Given the description of an element on the screen output the (x, y) to click on. 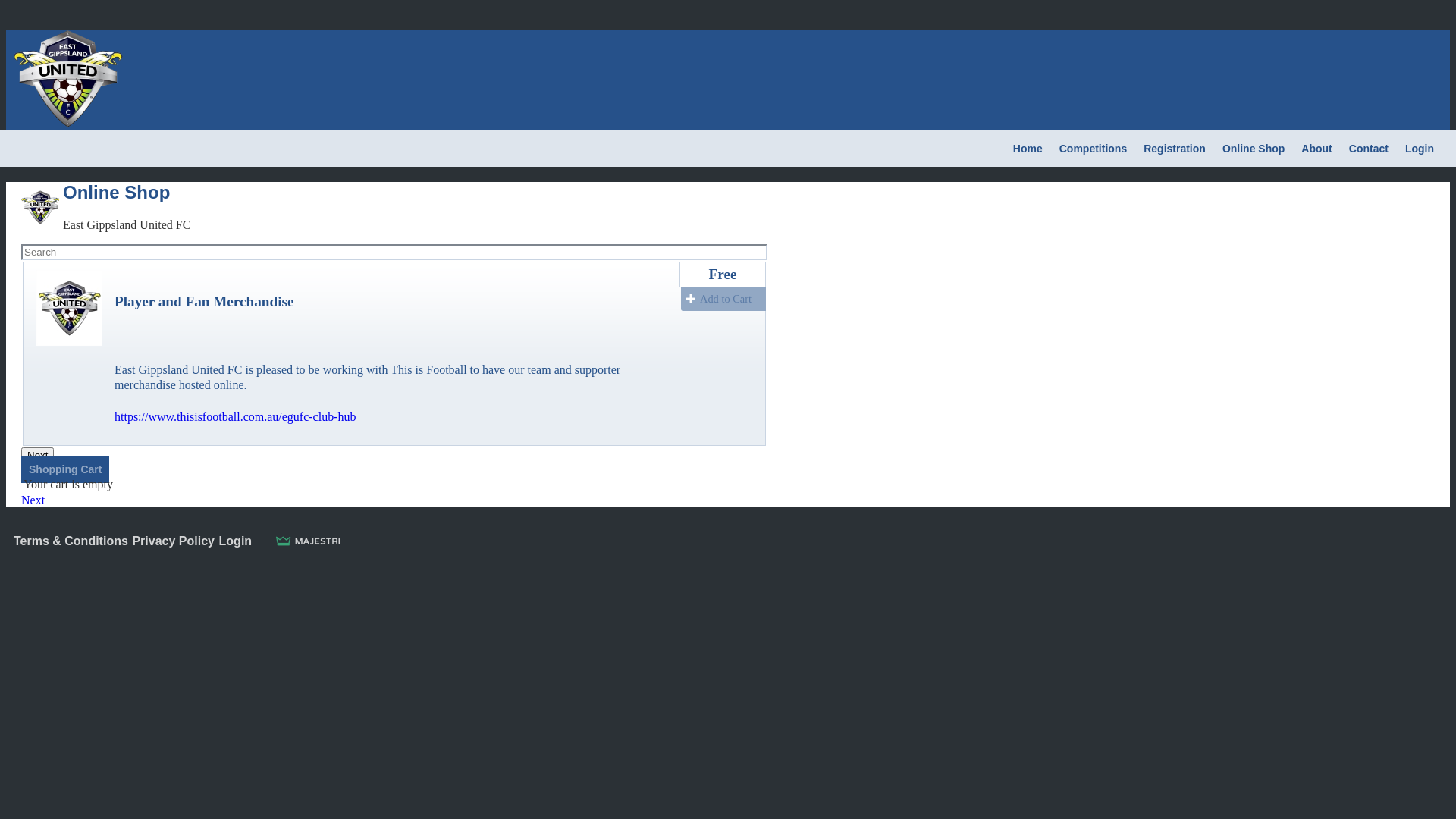
Login Element type: text (1419, 148)
Next Element type: text (32, 499)
Add to Cart Element type: text (722, 298)
Home Element type: text (1027, 148)
Competitions Element type: text (1093, 148)
Online Shop Element type: text (1253, 148)
Login Element type: text (235, 540)
Terms & Conditions Element type: text (70, 540)
https://www.thisisfootball.com.au/egufc-club-hub Element type: text (234, 417)
Contact Element type: text (1368, 148)
About Element type: text (1315, 148)
Next Element type: text (37, 455)
Registration Element type: text (1174, 148)
Privacy Policy Element type: text (172, 540)
